Given the description of an element on the screen output the (x, y) to click on. 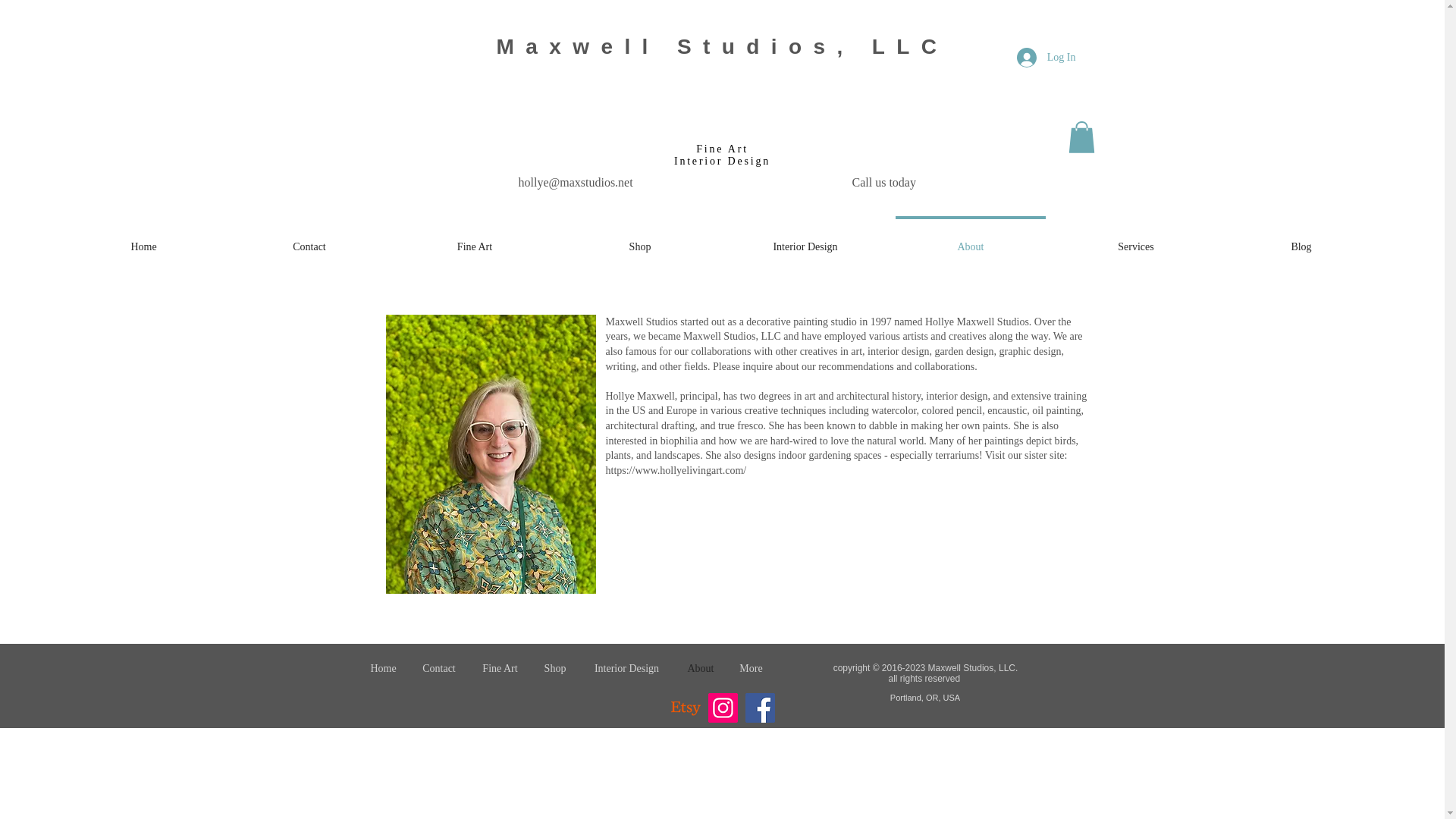
Services (1135, 240)
Call us today (883, 182)
Log In (1046, 57)
Fine Art (474, 240)
Home (383, 668)
Interior Design (805, 240)
About (970, 240)
Maxwell Studios, LLC (722, 46)
Contact (309, 240)
Shop (554, 668)
